Given the description of an element on the screen output the (x, y) to click on. 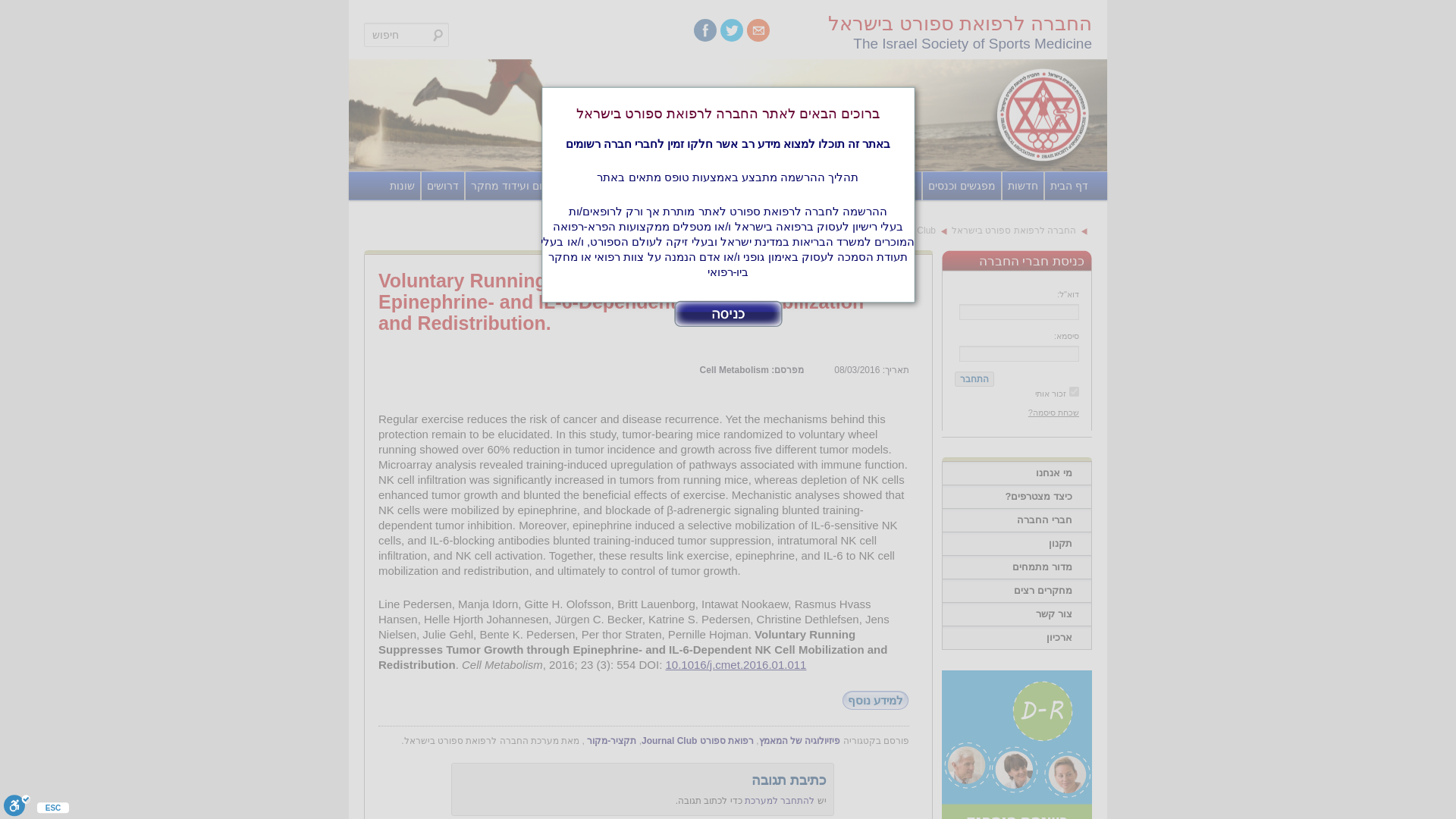
Twitter (731, 30)
Journal Club (600, 185)
Facebook (704, 30)
forever (1073, 391)
